Given the description of an element on the screen output the (x, y) to click on. 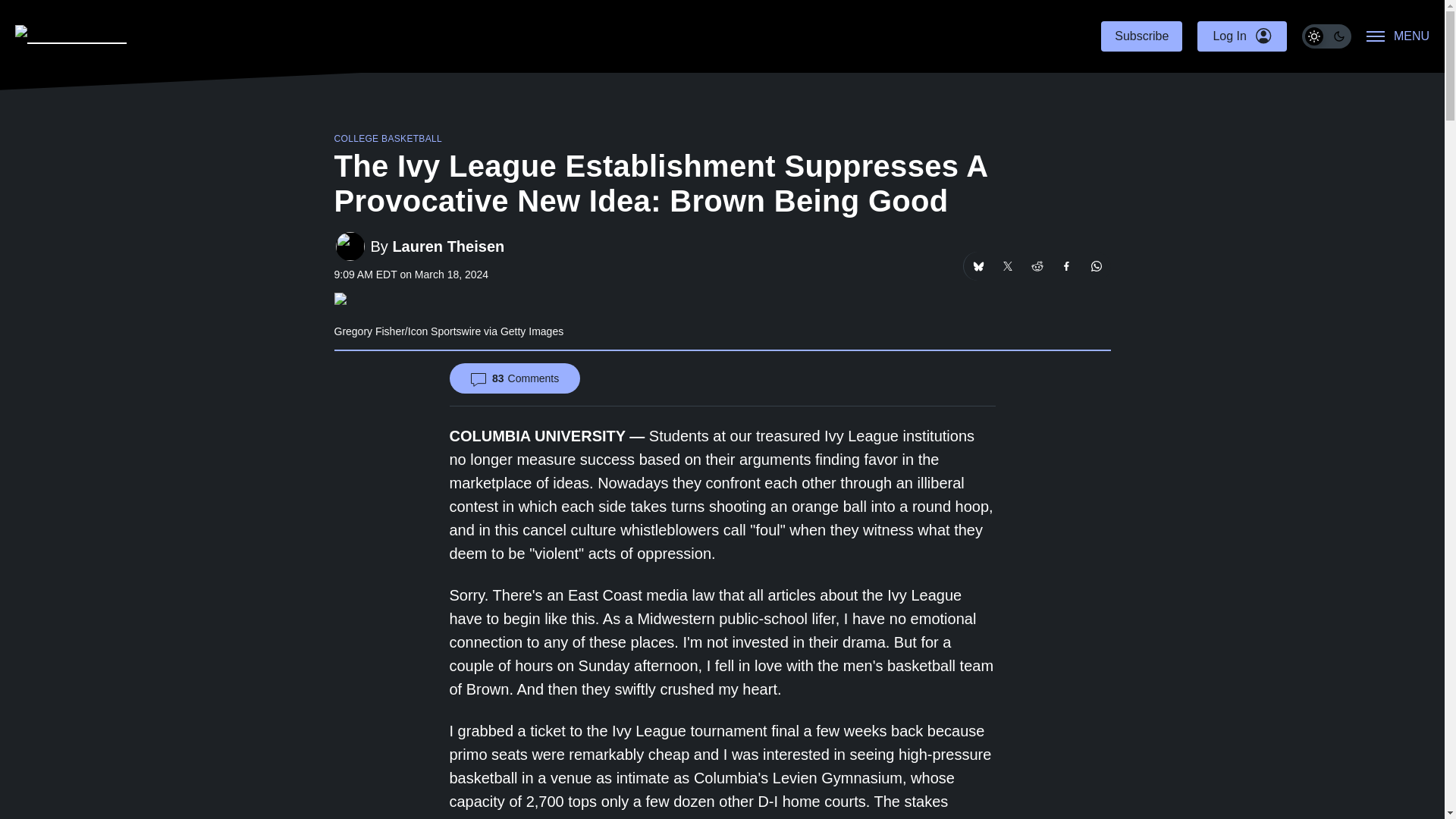
MENU (1398, 36)
Log In (1240, 36)
Share on Bluesky (976, 265)
Subscribe (1141, 36)
COLLEGE BASKETBALL (387, 138)
Lauren Theisen (447, 246)
Share on Reddit (1036, 265)
Share on Facebook (1066, 265)
